Given the description of an element on the screen output the (x, y) to click on. 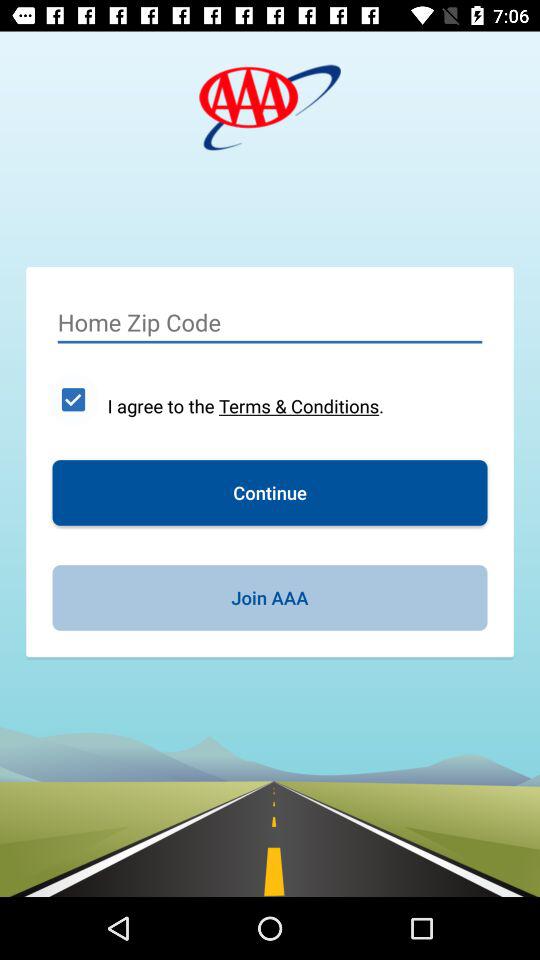
turn on the item above continue (245, 405)
